Given the description of an element on the screen output the (x, y) to click on. 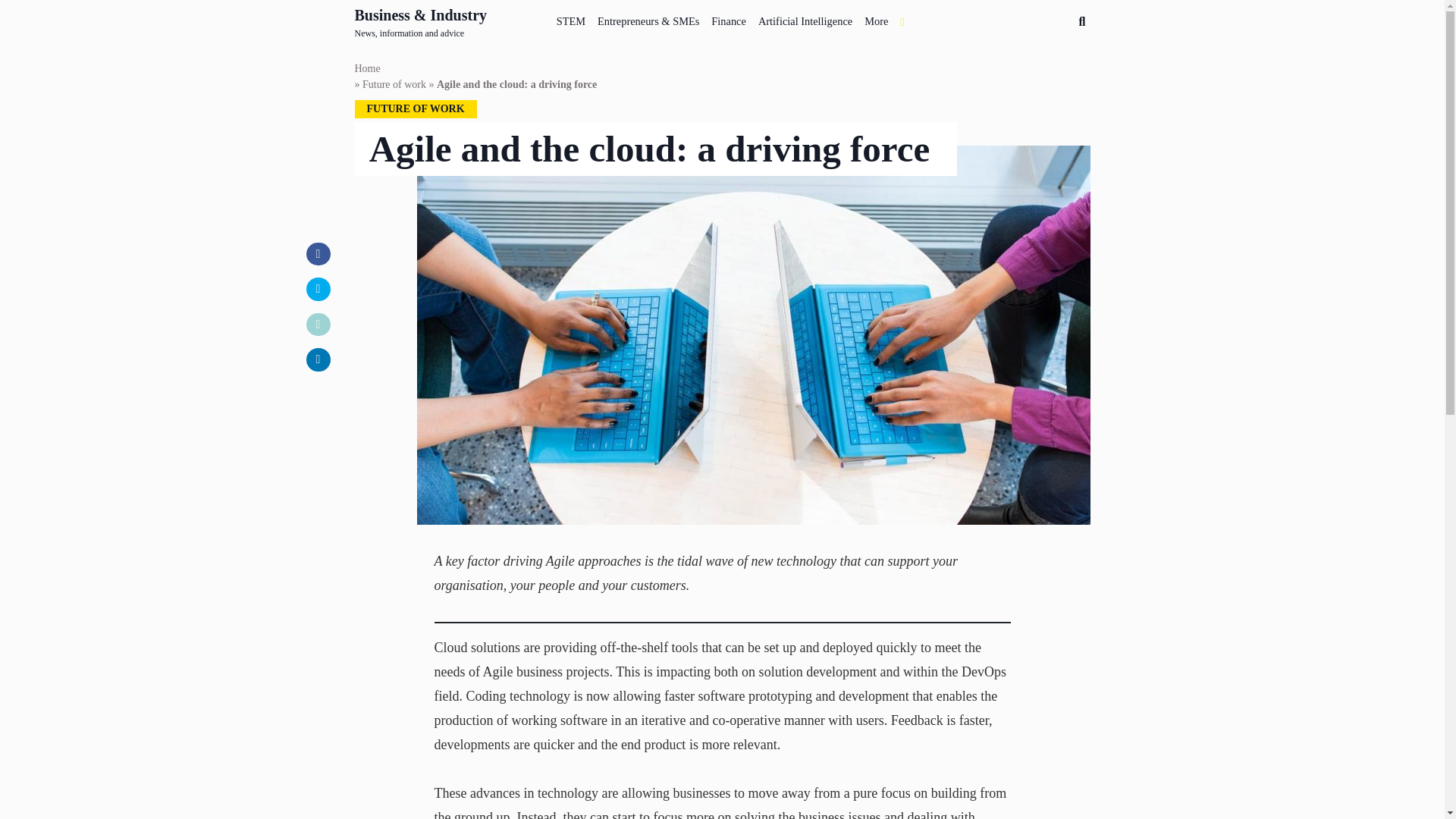
Artificial Intelligence (805, 18)
More (876, 18)
STEM (570, 18)
Finance (728, 18)
